Given the description of an element on the screen output the (x, y) to click on. 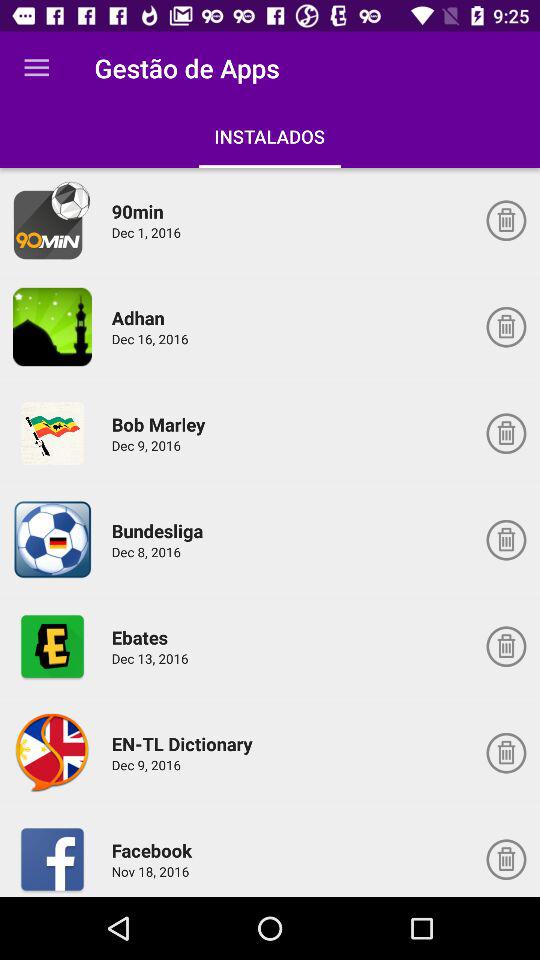
launch ebates item (142, 637)
